Given the description of an element on the screen output the (x, y) to click on. 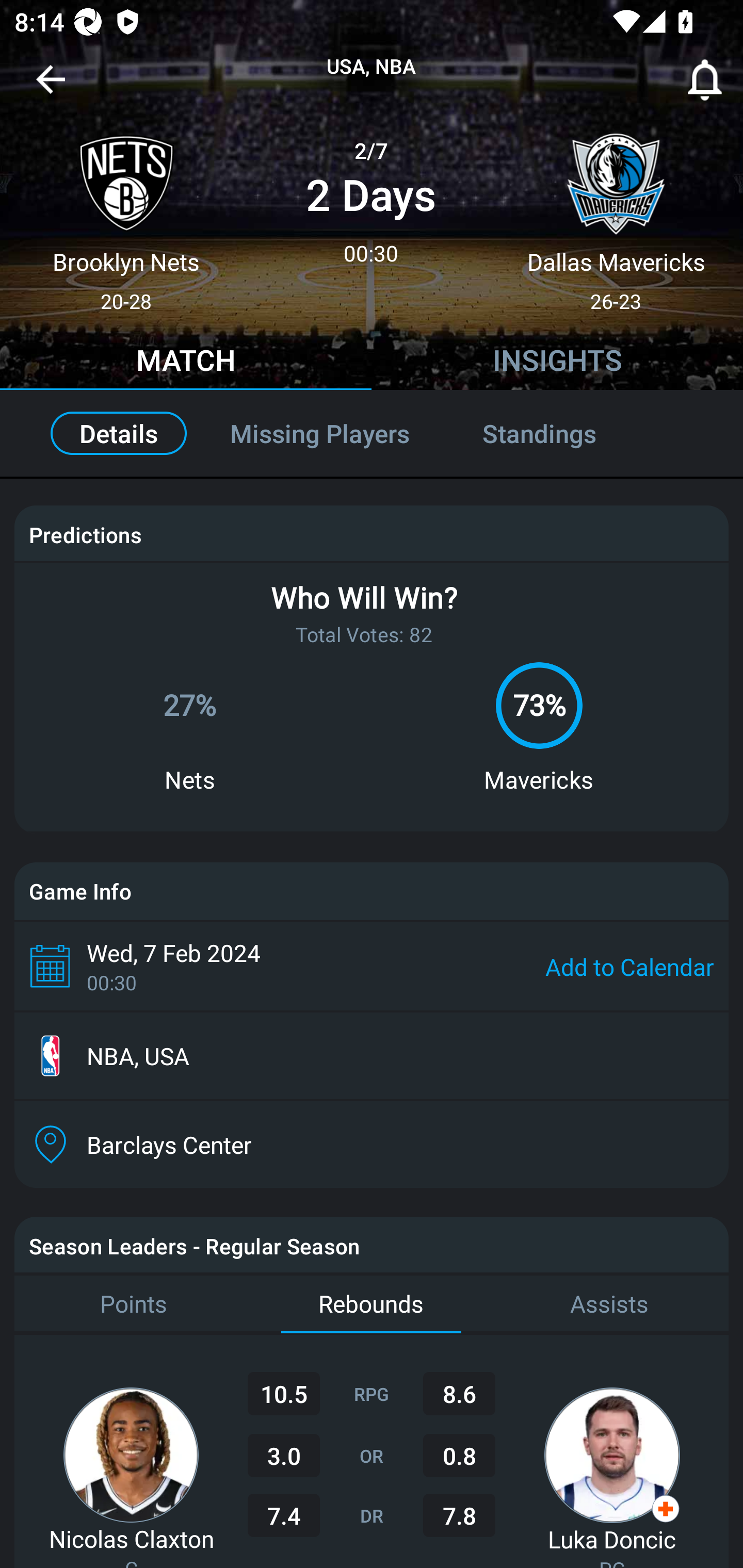
Navigate up (50, 86)
USA, NBA (371, 66)
Brooklyn Nets 20-28 (126, 214)
Dallas Mavericks 26-23 (616, 214)
MATCH (185, 362)
INSIGHTS (557, 362)
Missing Players (319, 433)
Standings (561, 433)
Predictions (85, 534)
Game Info (371, 891)
Wed, 7 Feb 2024 00:30 Add to Calendar (371, 965)
NBA, USA (371, 1055)
Barclays Center (371, 1144)
Points (133, 1303)
Assists (609, 1303)
Nicolas Claxton (131, 1537)
Luka Doncic (611, 1538)
